Given the description of an element on the screen output the (x, y) to click on. 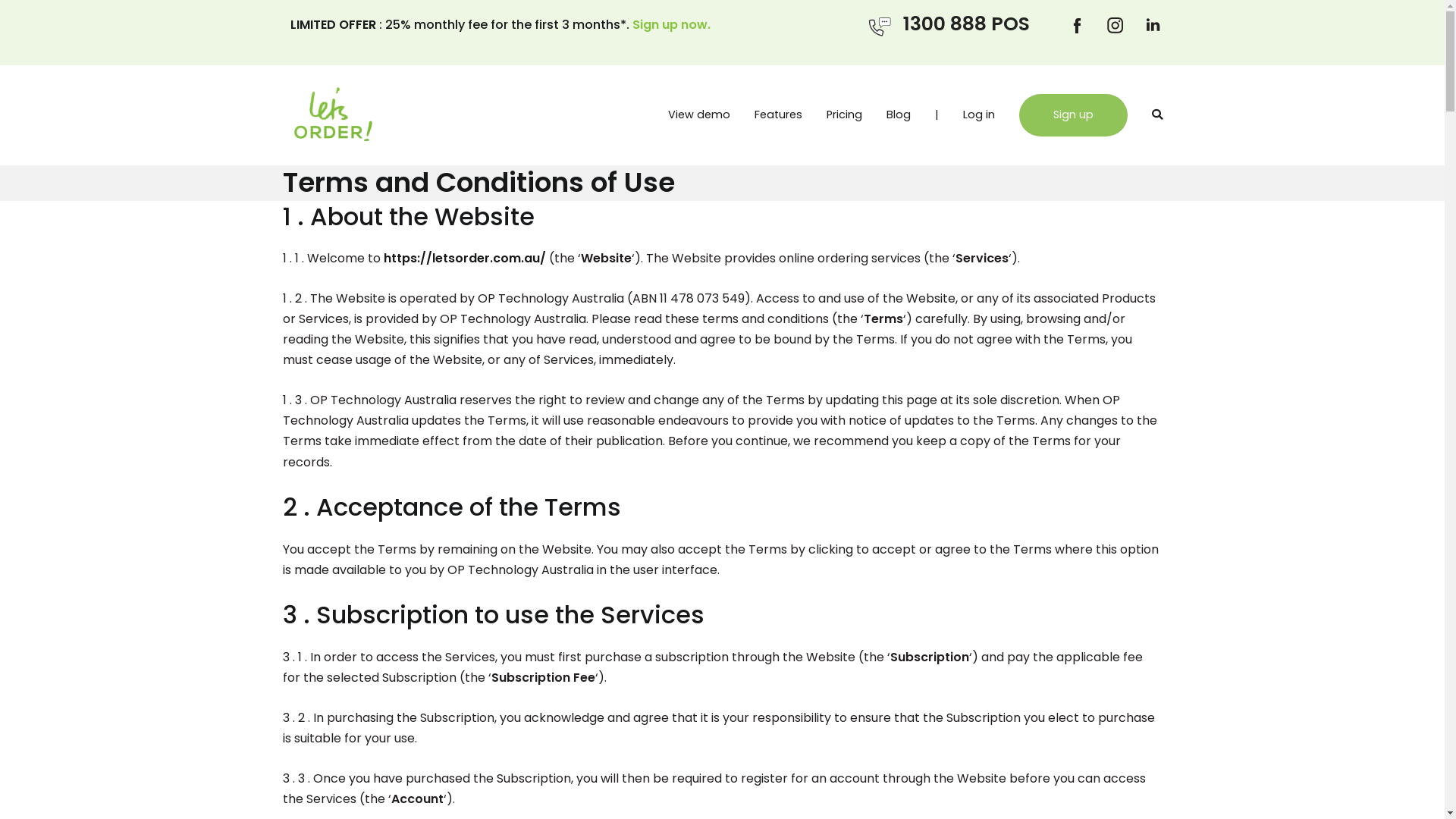
View demo Element type: text (698, 115)
Features Element type: text (777, 115)
Blog Element type: text (897, 115)
1300 888 POS Element type: text (948, 23)
Pricing Element type: text (844, 115)
Log in Element type: text (978, 115)
Sign up Element type: text (1073, 115)
Lets Order Element type: text (435, 125)
| Element type: text (936, 115)
Sign up now. Element type: text (671, 24)
https://letsorder.com.au/ Element type: text (464, 257)
